Given the description of an element on the screen output the (x, y) to click on. 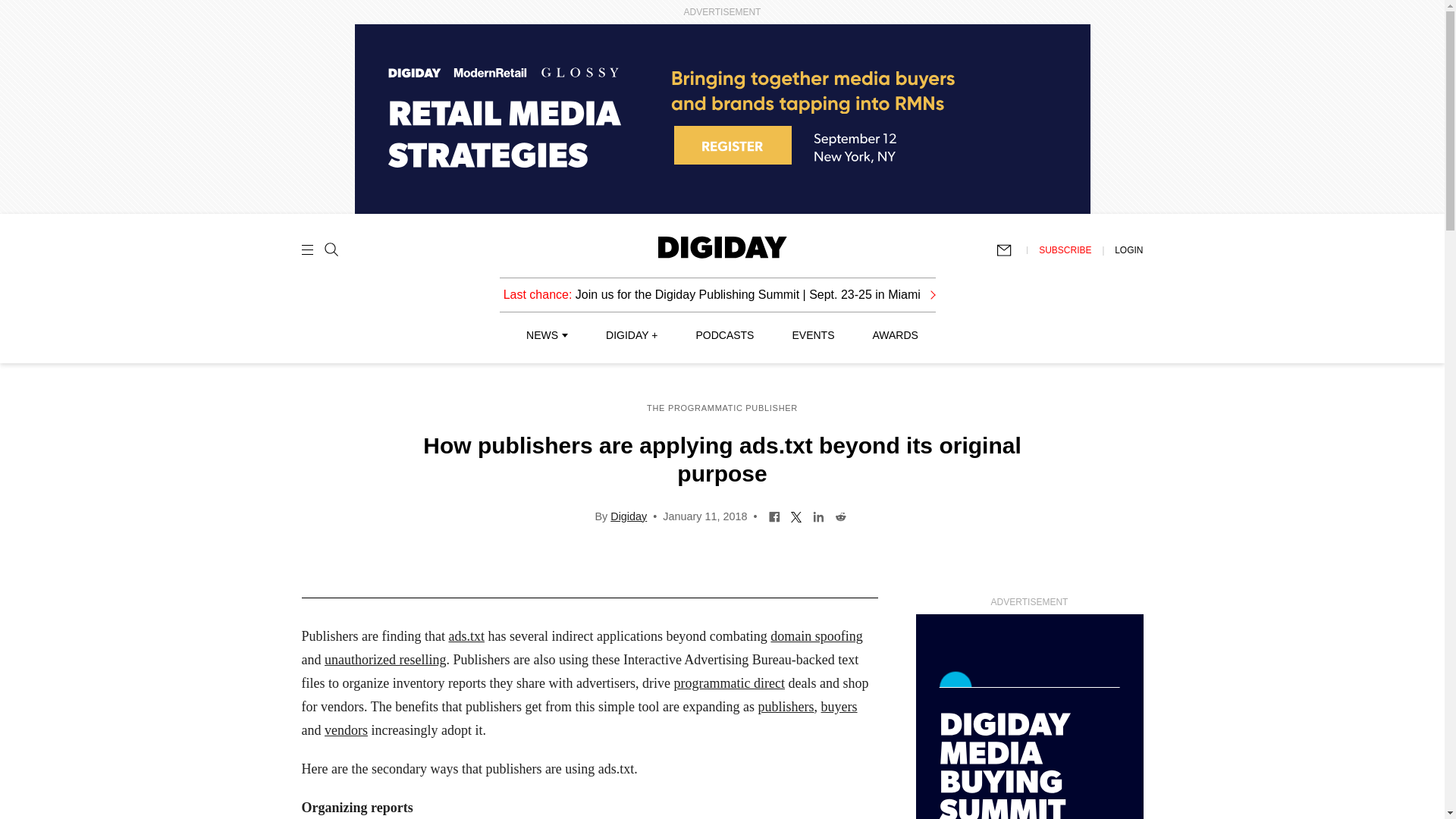
Share on LinkedIn (818, 515)
Share on Facebook (774, 515)
Subscribe (1010, 250)
EVENTS (813, 335)
Share on Reddit (840, 515)
Share on Twitter (796, 515)
NEWS (546, 335)
LOGIN (1128, 249)
AWARDS (894, 335)
3rd party ad content (1028, 716)
